Given the description of an element on the screen output the (x, y) to click on. 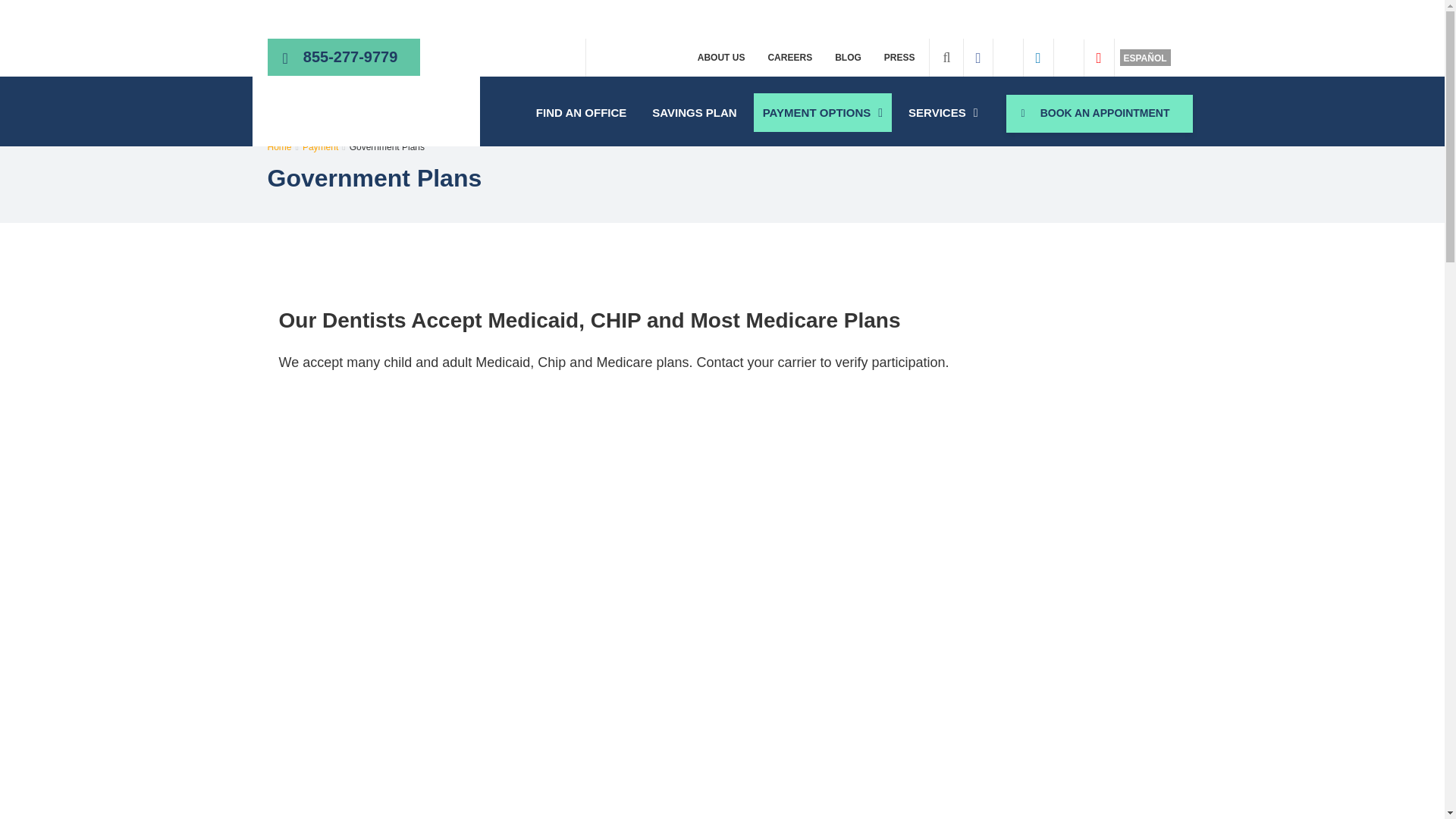
LinkedIn (1037, 57)
SERVICES (943, 112)
BLOG (847, 57)
youtube (1098, 57)
FIND AN OFFICE (580, 112)
Facebook (979, 57)
CAREERS (789, 57)
tiktok (1067, 56)
855-277-9779 (349, 59)
SAVINGS PLAN (694, 112)
